Given the description of an element on the screen output the (x, y) to click on. 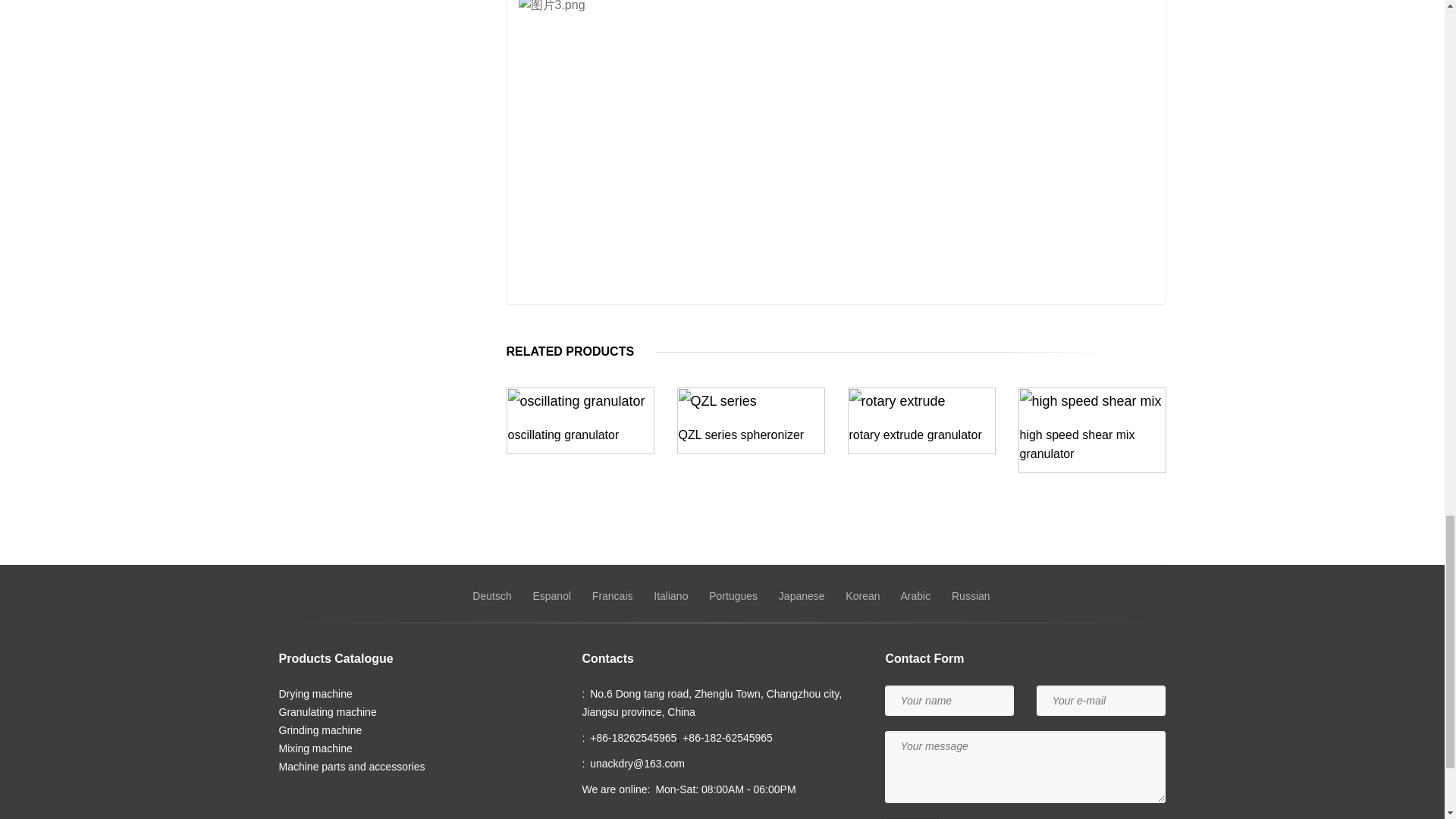
high speed shear mix granulator (1076, 444)
oscillating granulator (564, 434)
 submit  (912, 818)
rotary extrude granulator (914, 434)
QZL series spheronizer (740, 434)
 submit  (546, 551)
